Given the description of an element on the screen output the (x, y) to click on. 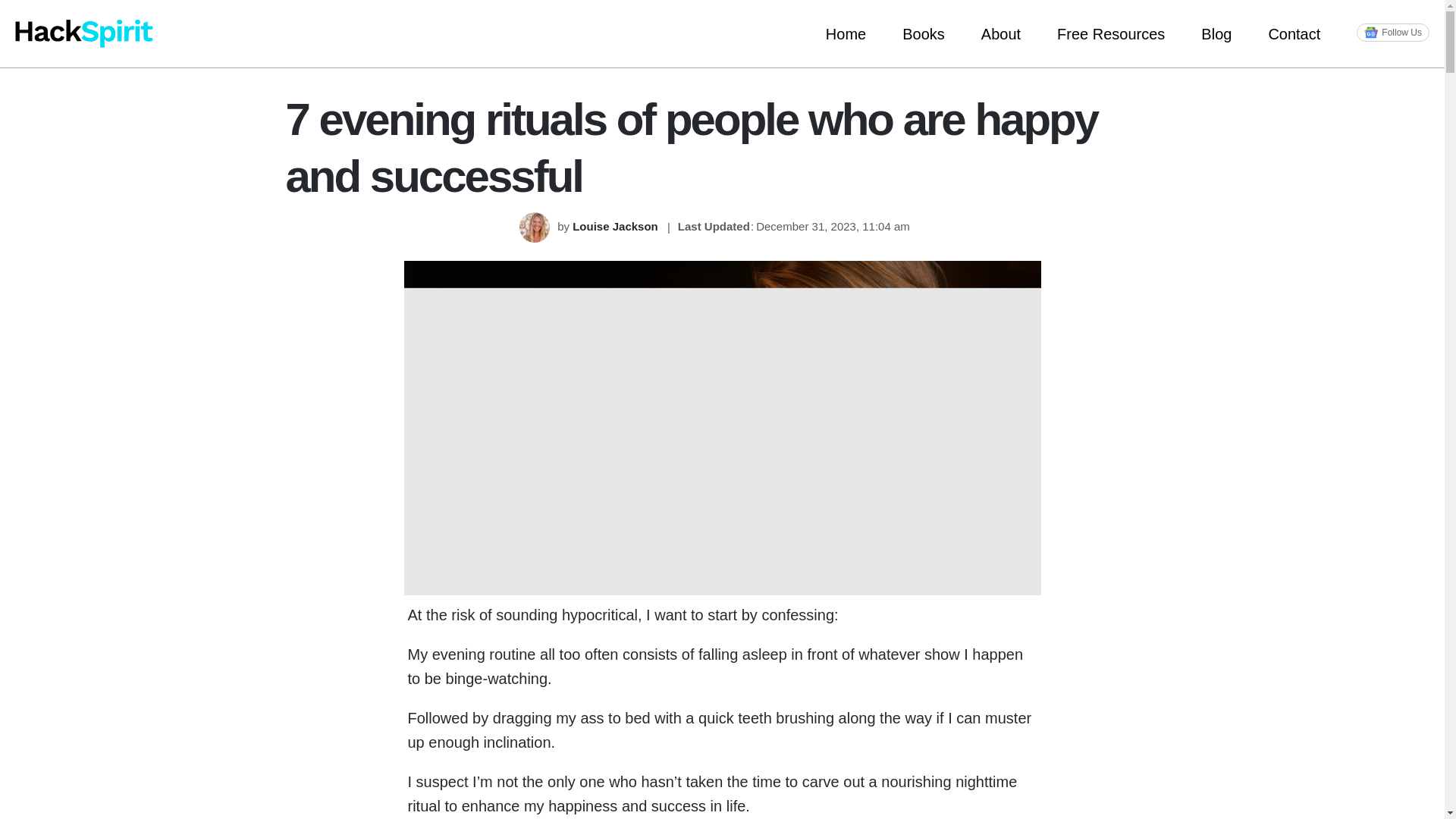
Home (845, 33)
Contact (1293, 33)
About (1000, 33)
Free Resources (1110, 33)
Blog (1215, 33)
Posts by Louise Jackson (616, 226)
Books (922, 33)
